Given the description of an element on the screen output the (x, y) to click on. 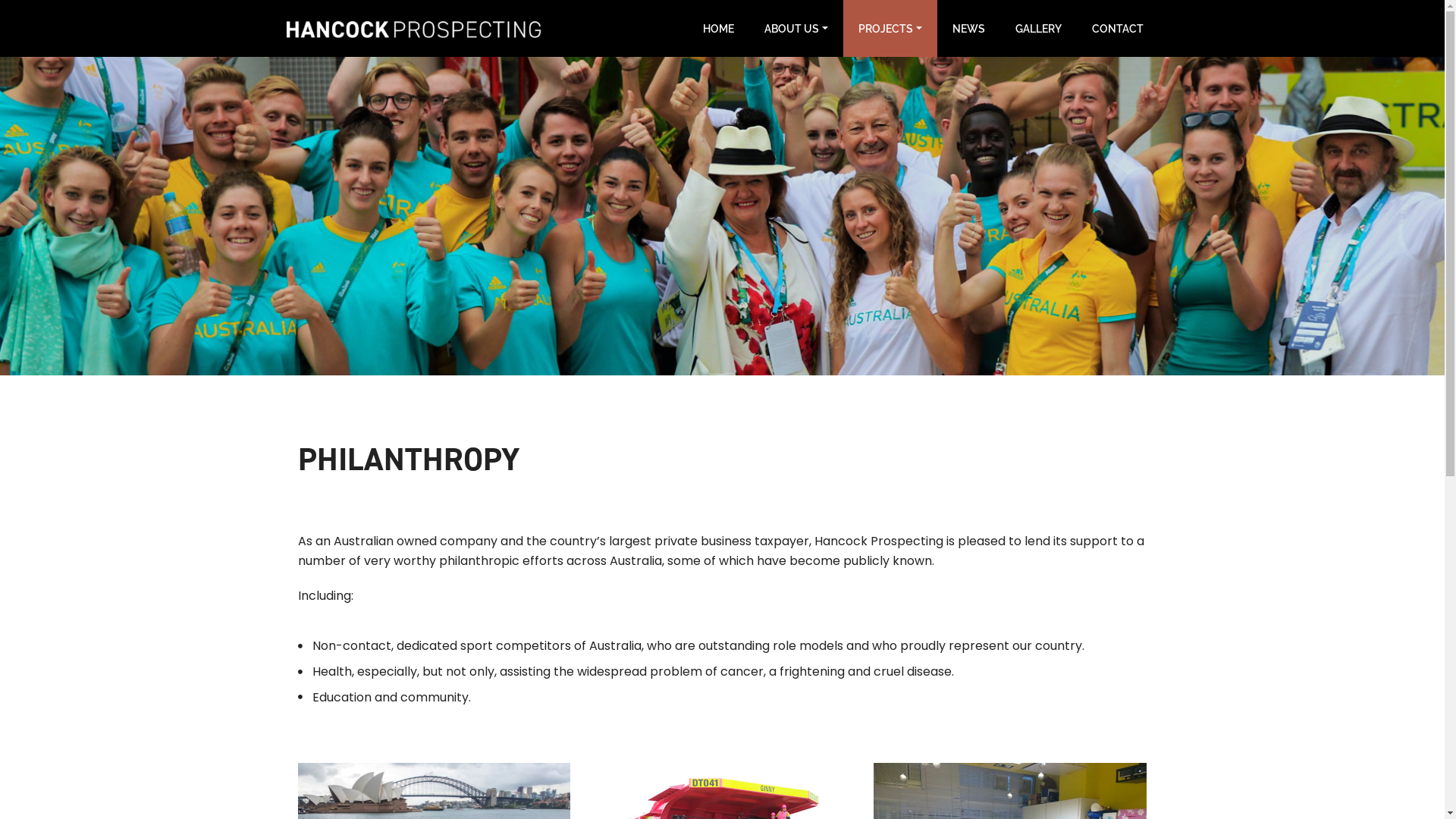
GALLERY Element type: text (1037, 28)
ABOUT US Element type: text (796, 28)
HOME Element type: text (718, 28)
CONTACT Element type: text (1117, 28)
PROJECTS Element type: text (890, 28)
NEWS Element type: text (968, 28)
